Given the description of an element on the screen output the (x, y) to click on. 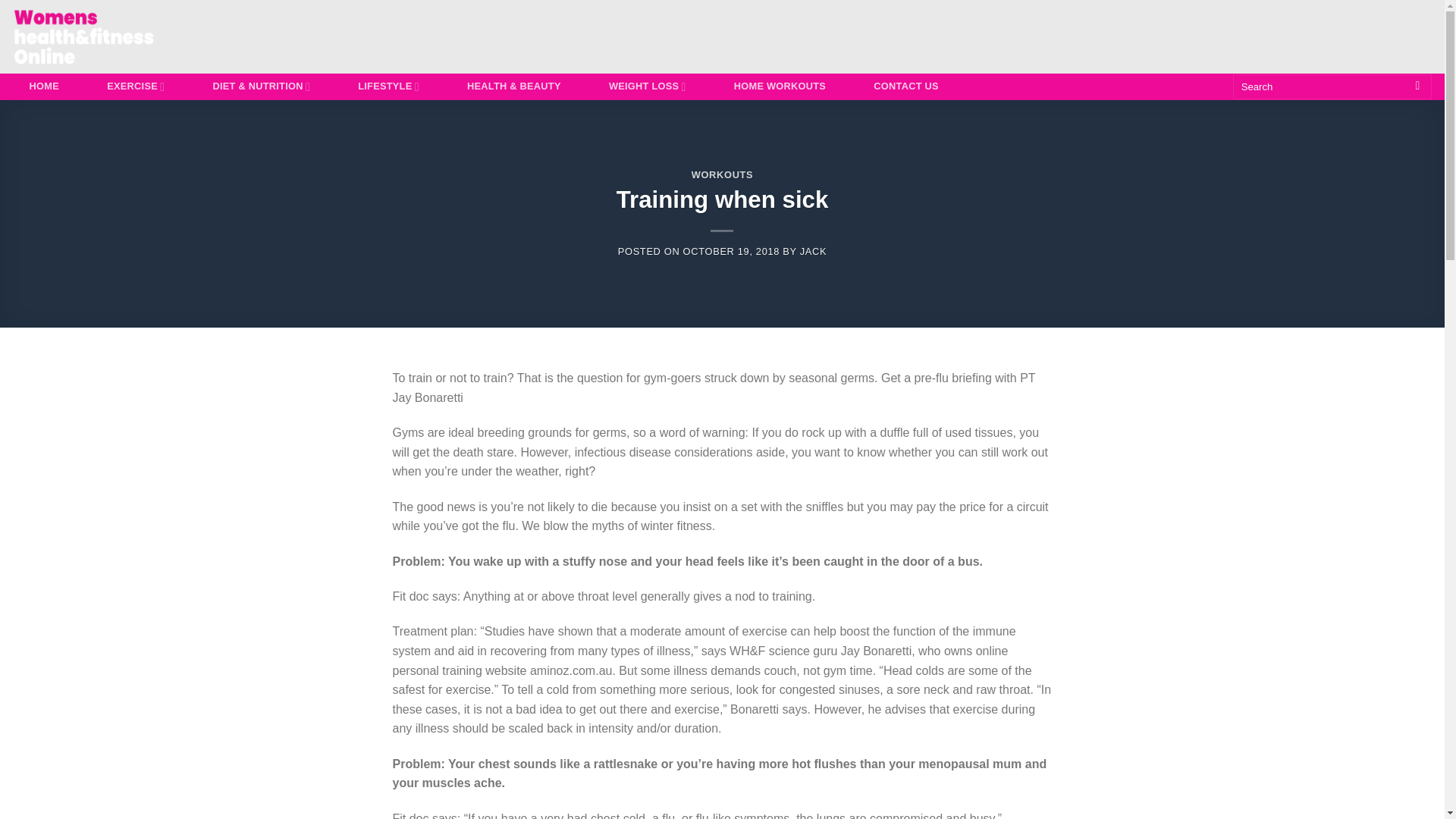
HOME WORKOUTS (779, 86)
HOME (44, 86)
OCTOBER 19, 2018 (730, 251)
EXERCISE (136, 86)
WEIGHT LOSS (646, 86)
WORKOUTS (722, 174)
CONTACT US (905, 86)
JACK (813, 251)
LIFESTYLE (388, 86)
My Site - Just another WordPress site (100, 36)
